Given the description of an element on the screen output the (x, y) to click on. 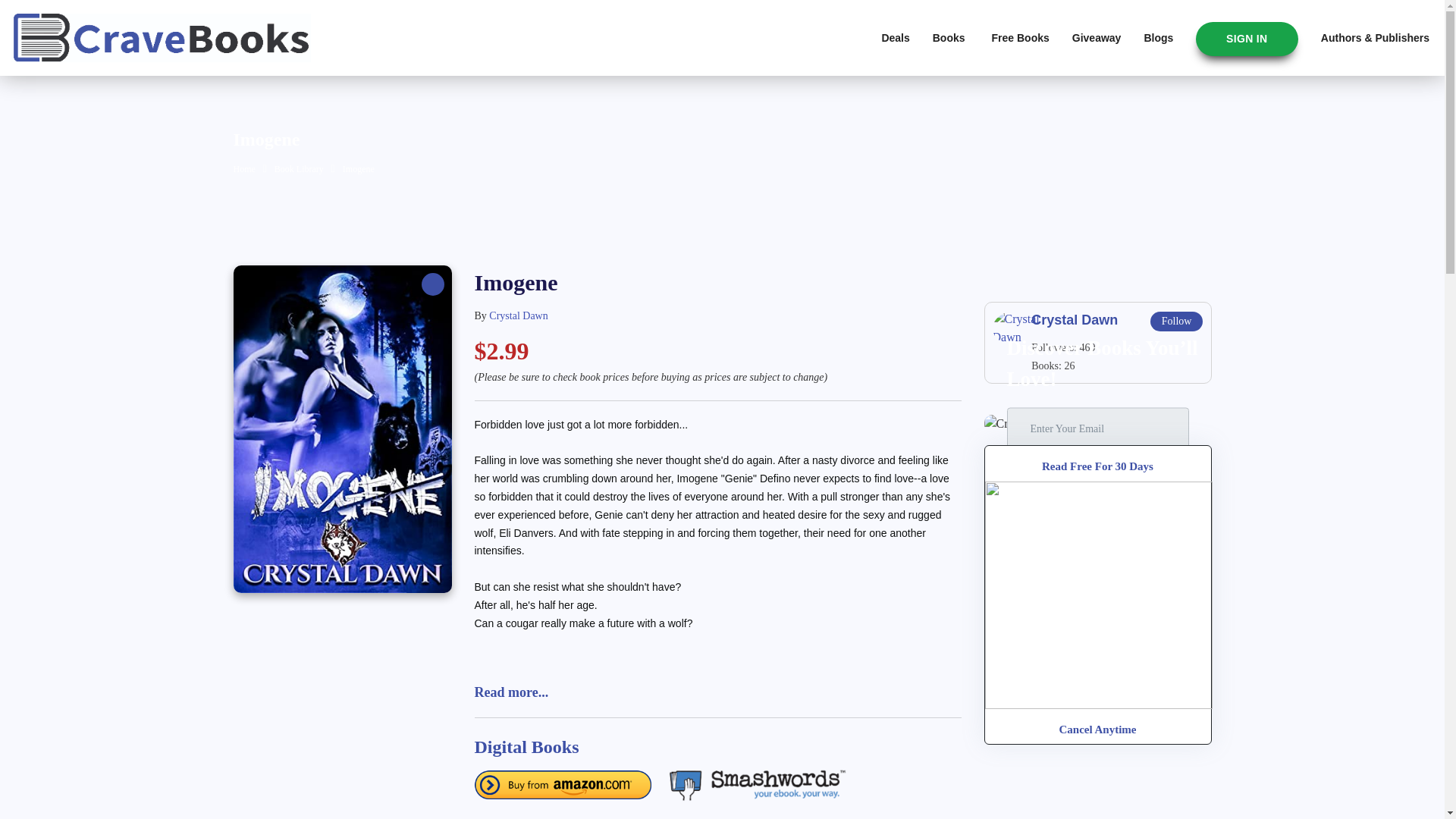
Giveaway (1096, 37)
SIGN IN (1246, 39)
Smashwords (753, 782)
Books (951, 37)
Crystal Dawn (518, 315)
Blogs (1157, 37)
Free Books (1020, 37)
Deals (894, 37)
Home (244, 168)
Book Library (299, 168)
